Given the description of an element on the screen output the (x, y) to click on. 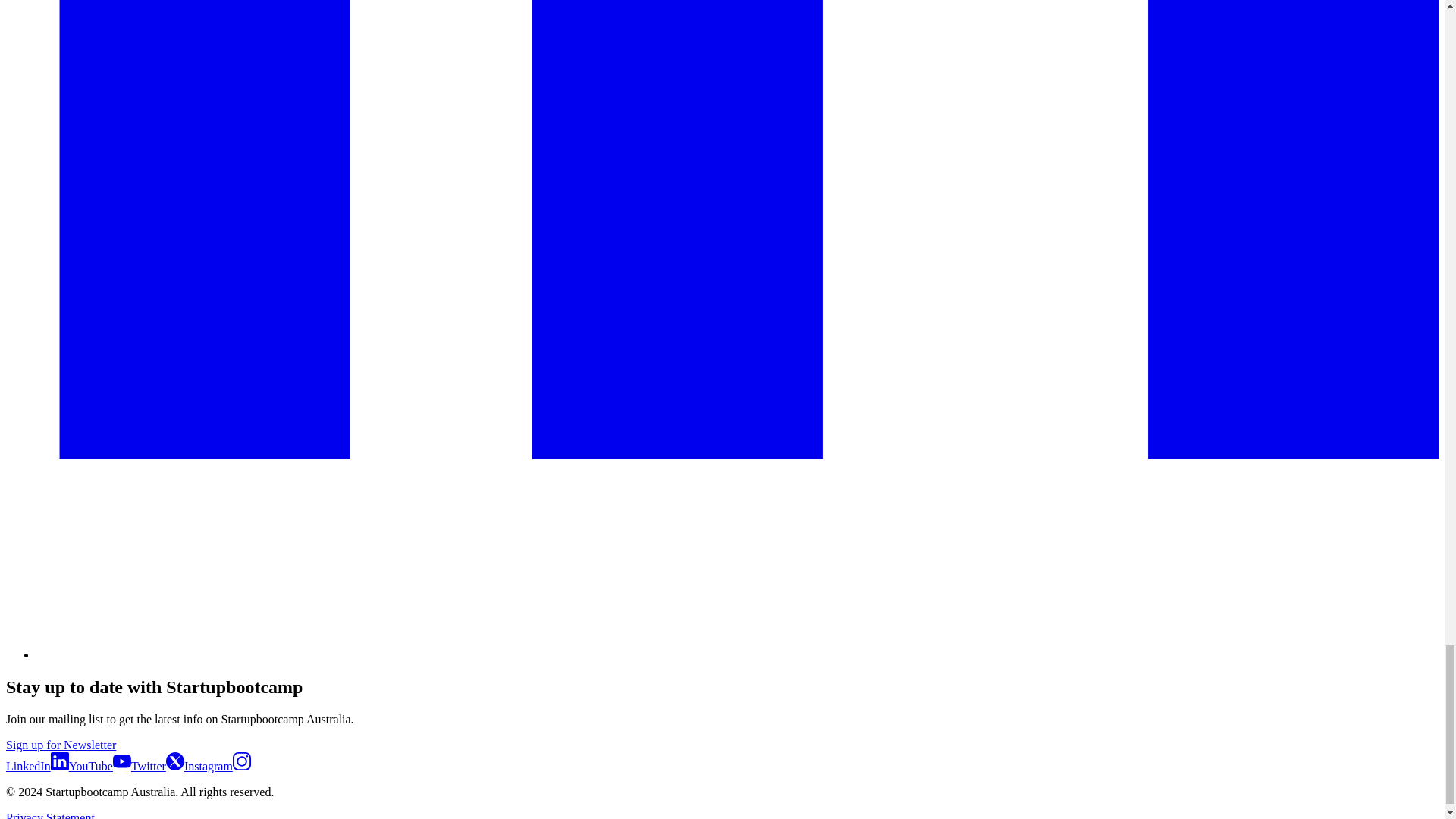
Sign up for Newsletter (60, 744)
Instagram (217, 766)
YouTube (99, 766)
LinkedIn (36, 766)
Twitter (157, 766)
